Given the description of an element on the screen output the (x, y) to click on. 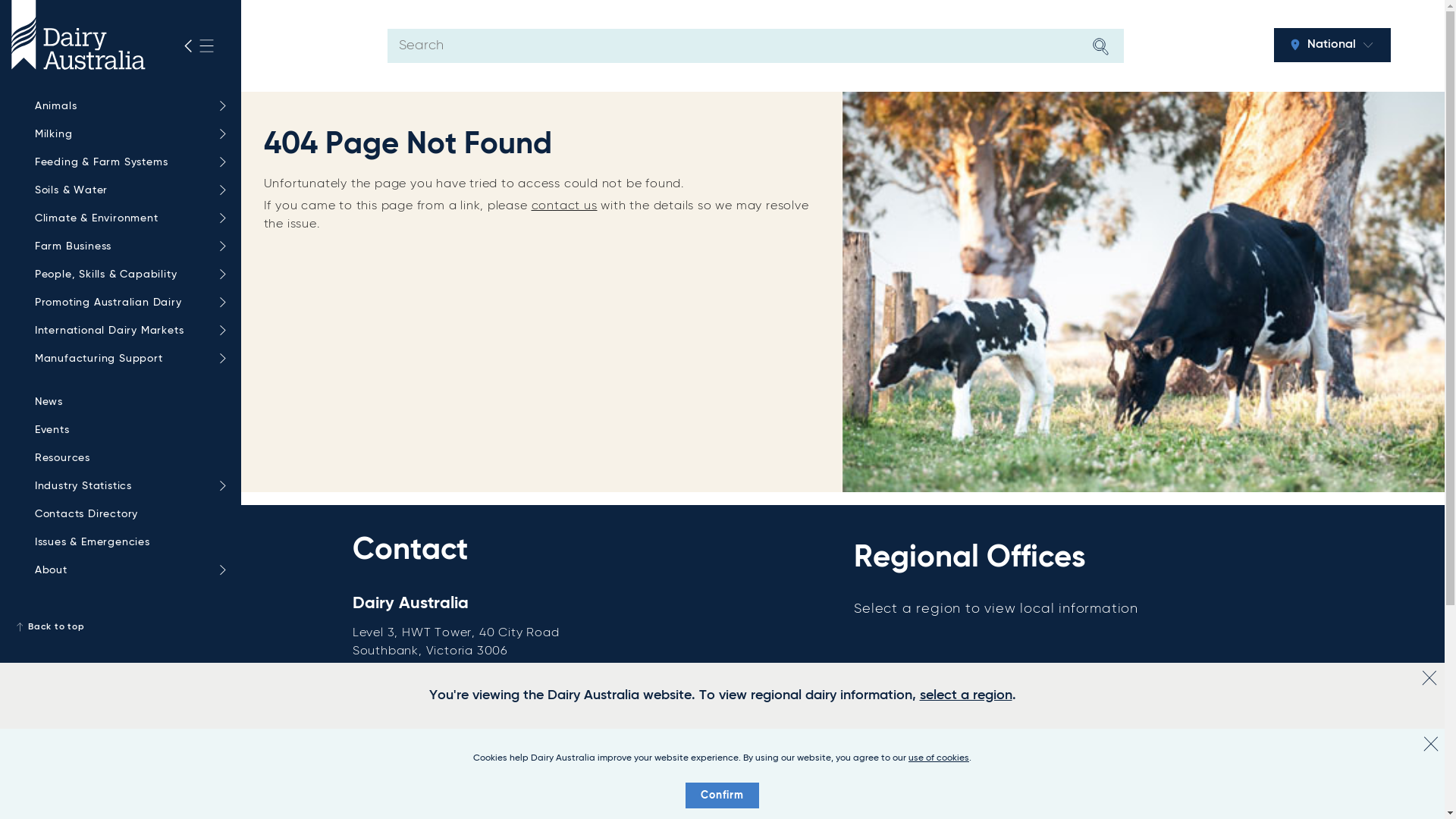
1800 004 377 Element type: text (463, 669)
Contacts Directory Element type: text (126, 514)
Enquiry Element type: text (390, 710)
contact us Element type: text (563, 206)
About Element type: text (126, 570)
Climate & Environment Element type: text (126, 218)
Promoting Australian Dairy Element type: text (126, 302)
Manufacturing Support Element type: text (126, 359)
Soils & Water Element type: text (126, 190)
News Element type: text (126, 402)
Resources Element type: text (126, 458)
Farm Business Element type: text (126, 246)
Back to top Element type: text (120, 626)
International Dairy Markets Element type: text (126, 330)
Events Element type: text (126, 430)
Milking Element type: text (126, 134)
National Element type: text (1332, 45)
Animals Element type: text (126, 106)
Issues & Emergencies Element type: text (126, 542)
use of cookies Element type: text (938, 757)
X Element type: text (1429, 677)
Industry Statistics Element type: text (126, 486)
Confirm Element type: text (722, 795)
Feeding & Farm Systems Element type: text (126, 162)
People, Skills & Capability Element type: text (126, 274)
X Element type: text (1430, 743)
select a region Element type: text (965, 695)
